Given the description of an element on the screen output the (x, y) to click on. 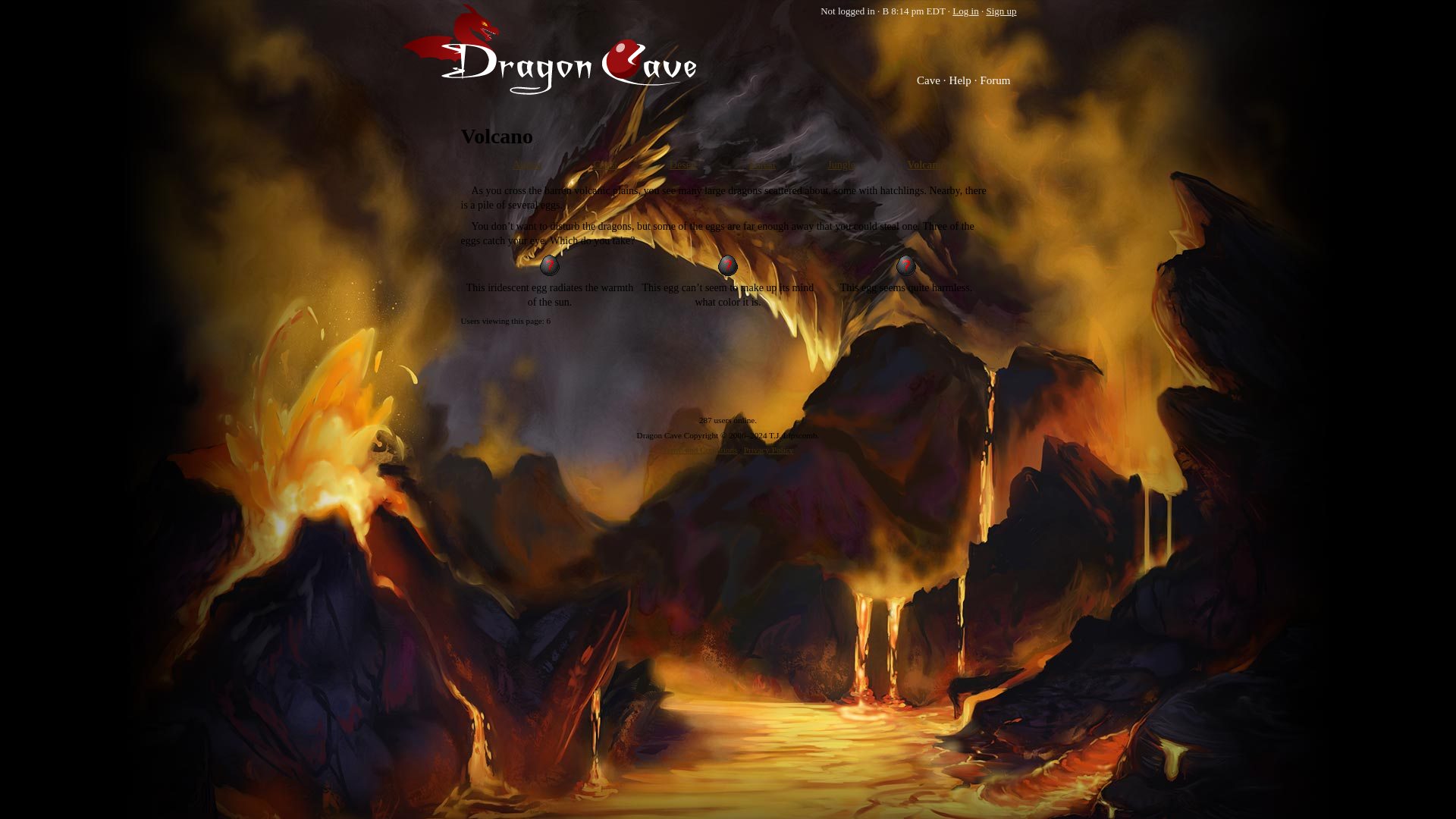
Alpine (526, 164)
Terms and Conditions (700, 449)
Desert (683, 164)
Forest (762, 164)
Coast (605, 164)
Forum (997, 80)
Cave (933, 80)
Volcano (925, 164)
8:14 pm EDT (913, 10)
Log in (965, 10)
Advertisement (727, 378)
Sign up (1000, 10)
Help (964, 80)
Jungle (841, 164)
Privacy Policy (768, 449)
